Given the description of an element on the screen output the (x, y) to click on. 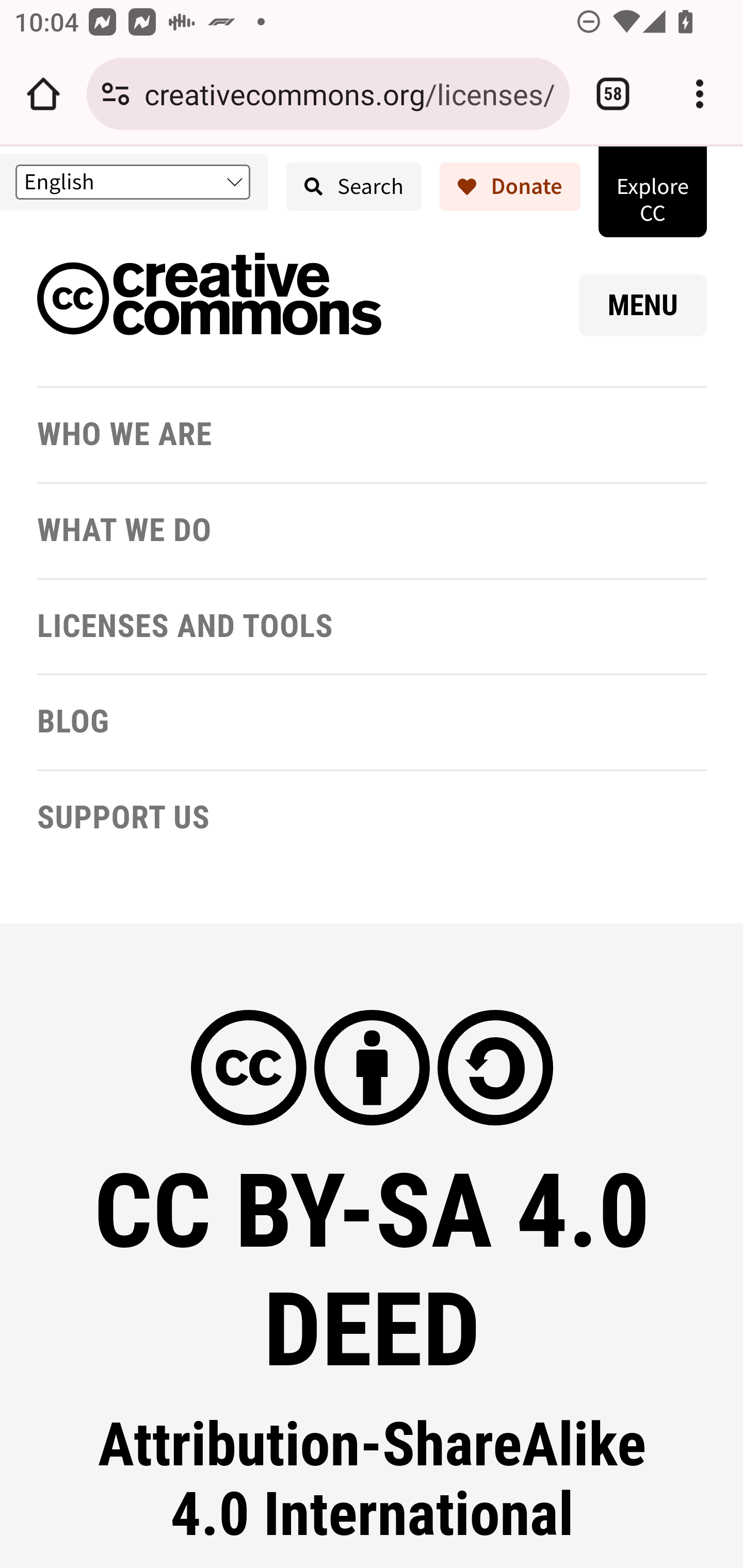
Open the home page (43, 93)
Connection is secure (115, 93)
Switch or close tabs (612, 93)
Customize and control Google Chrome (699, 93)
creativecommons.org/licenses/by-sa/4.0/ (349, 92)
Explore CC (652, 191)
English (132, 181)
Search (353, 187)
Donate (509, 187)
Creative Commons (209, 298)
MENU (643, 305)
WHO WE ARE (124, 434)
WHAT WE DO (124, 530)
LICENSES AND TOOLS (184, 626)
BLOG (72, 722)
SUPPORT US (123, 818)
